Given the description of an element on the screen output the (x, y) to click on. 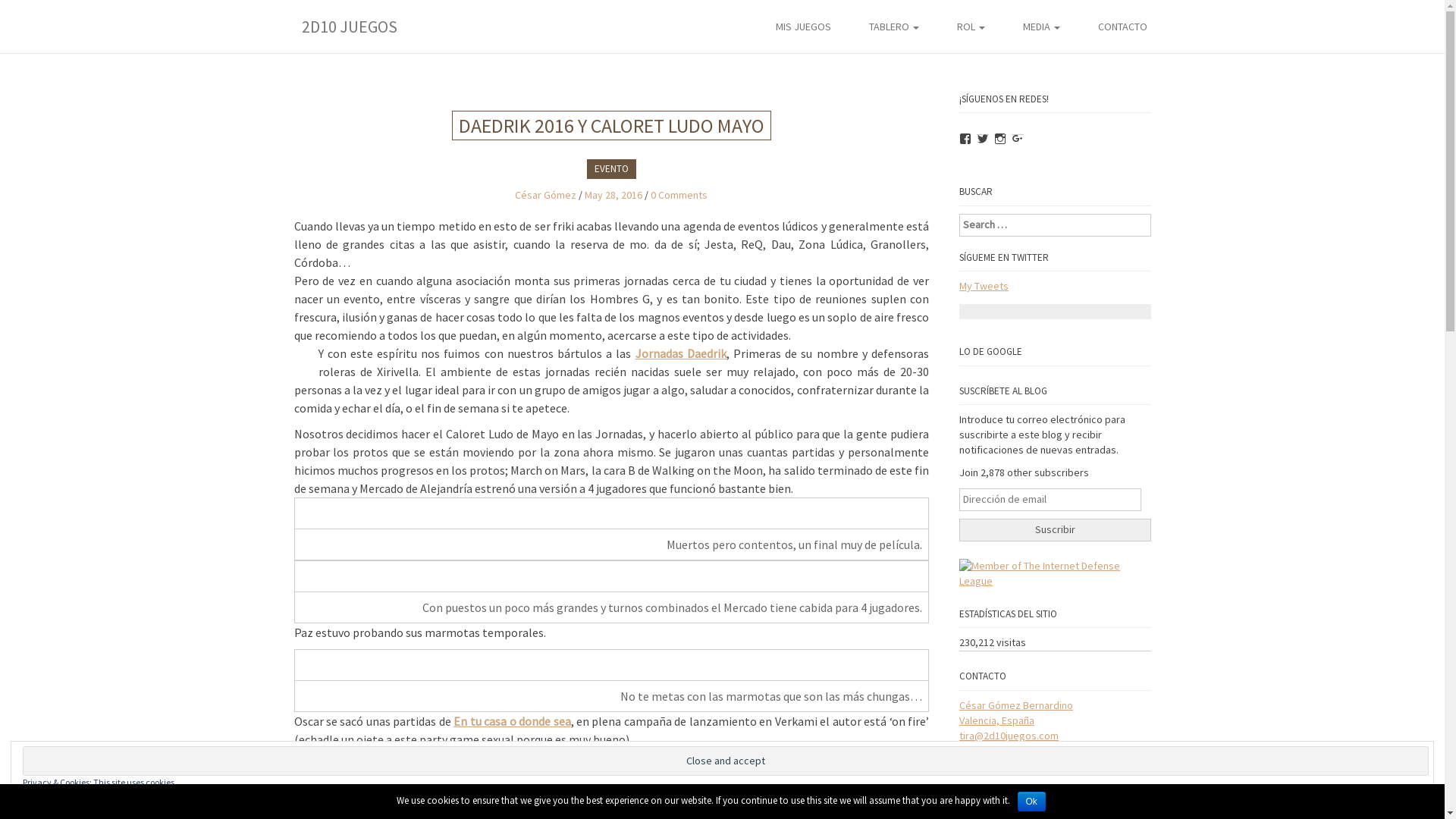
Suscribir Element type: text (1055, 529)
Twitter Element type: text (982, 138)
0 Comments Element type: text (678, 194)
Ok Element type: text (1031, 801)
Instagram Element type: text (1000, 138)
May 28, 2016 Element type: text (613, 194)
2D10 JUEGOS Element type: text (360, 18)
MEDIA Element type: text (1041, 28)
Facebook Element type: text (965, 138)
Our Cookie Policy Element type: text (310, 795)
MIS JUEGOS Element type: text (803, 28)
Close and accept Element type: text (725, 760)
CONTACTO Element type: text (1121, 28)
En tu casa o donde sea Element type: text (511, 720)
Jornadas Daedrik Element type: text (680, 352)
TABLERO Element type: text (893, 28)
EVENTO Element type: text (611, 168)
My Tweets Element type: text (983, 285)
tira@2d10juegos.com Element type: text (1008, 735)
Google+ Element type: text (1017, 138)
ROL Element type: text (970, 28)
